Given the description of an element on the screen output the (x, y) to click on. 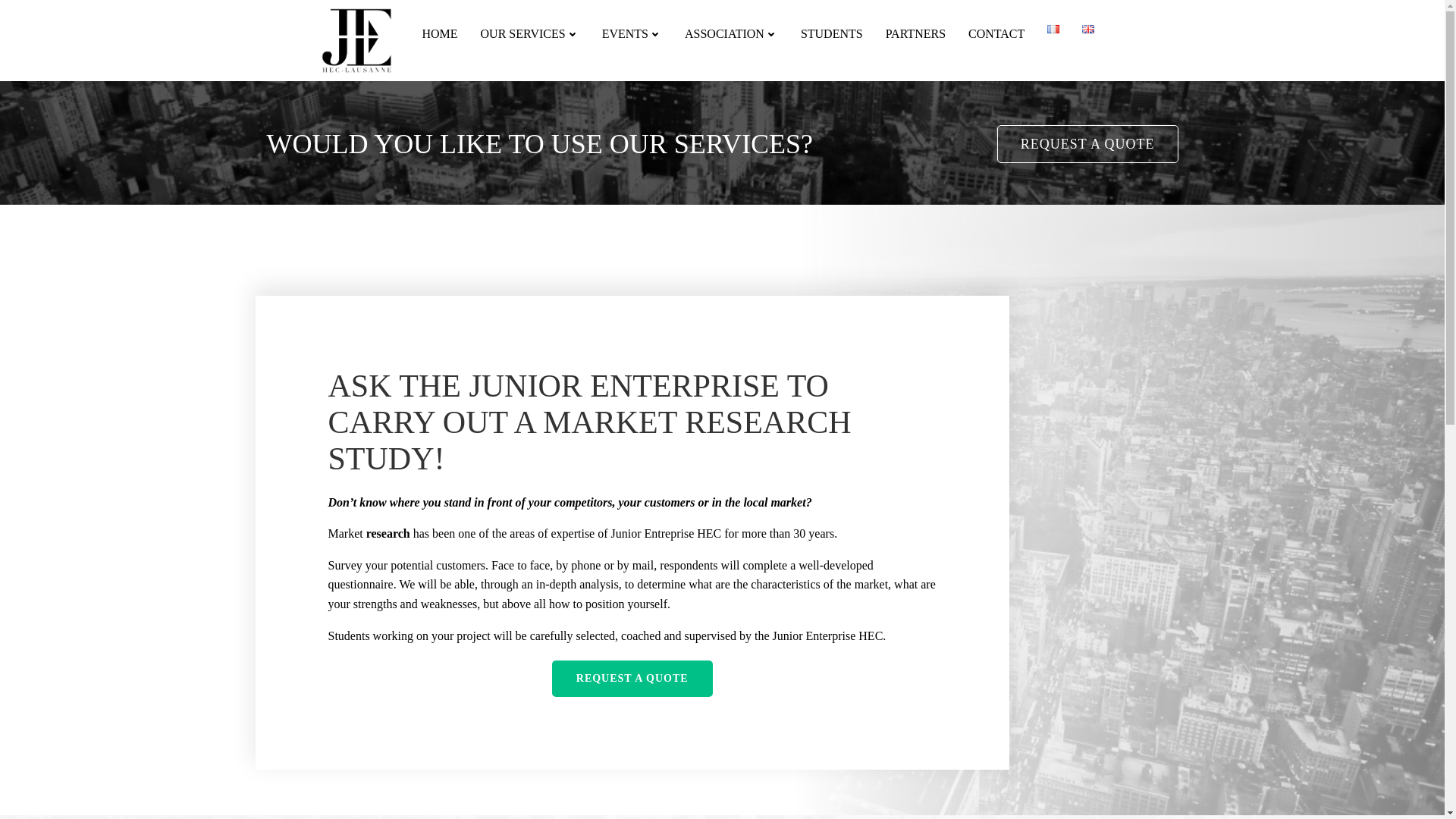
STUDENTS (831, 34)
REQUEST A QUOTE (632, 678)
HOME (439, 34)
OUR SERVICES (529, 34)
PARTNERS (914, 34)
CONTACT (996, 34)
EVENTS (632, 34)
REQUEST A QUOTE (1087, 143)
ASSOCIATION (730, 34)
